Given the description of an element on the screen output the (x, y) to click on. 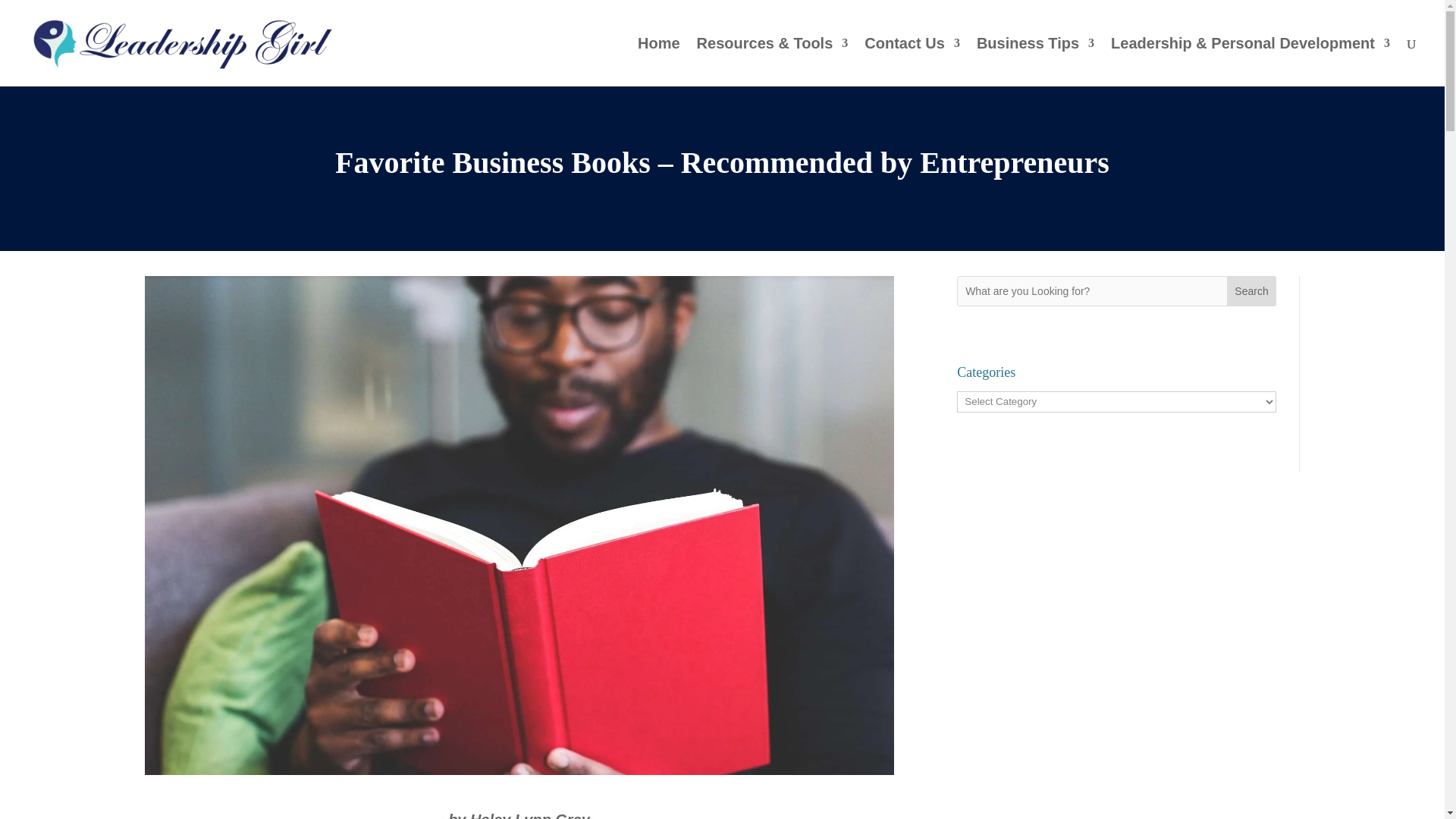
Contact Us (911, 61)
Business Tips (1035, 61)
Contact Us (911, 61)
Business Tips (1035, 61)
